Given the description of an element on the screen output the (x, y) to click on. 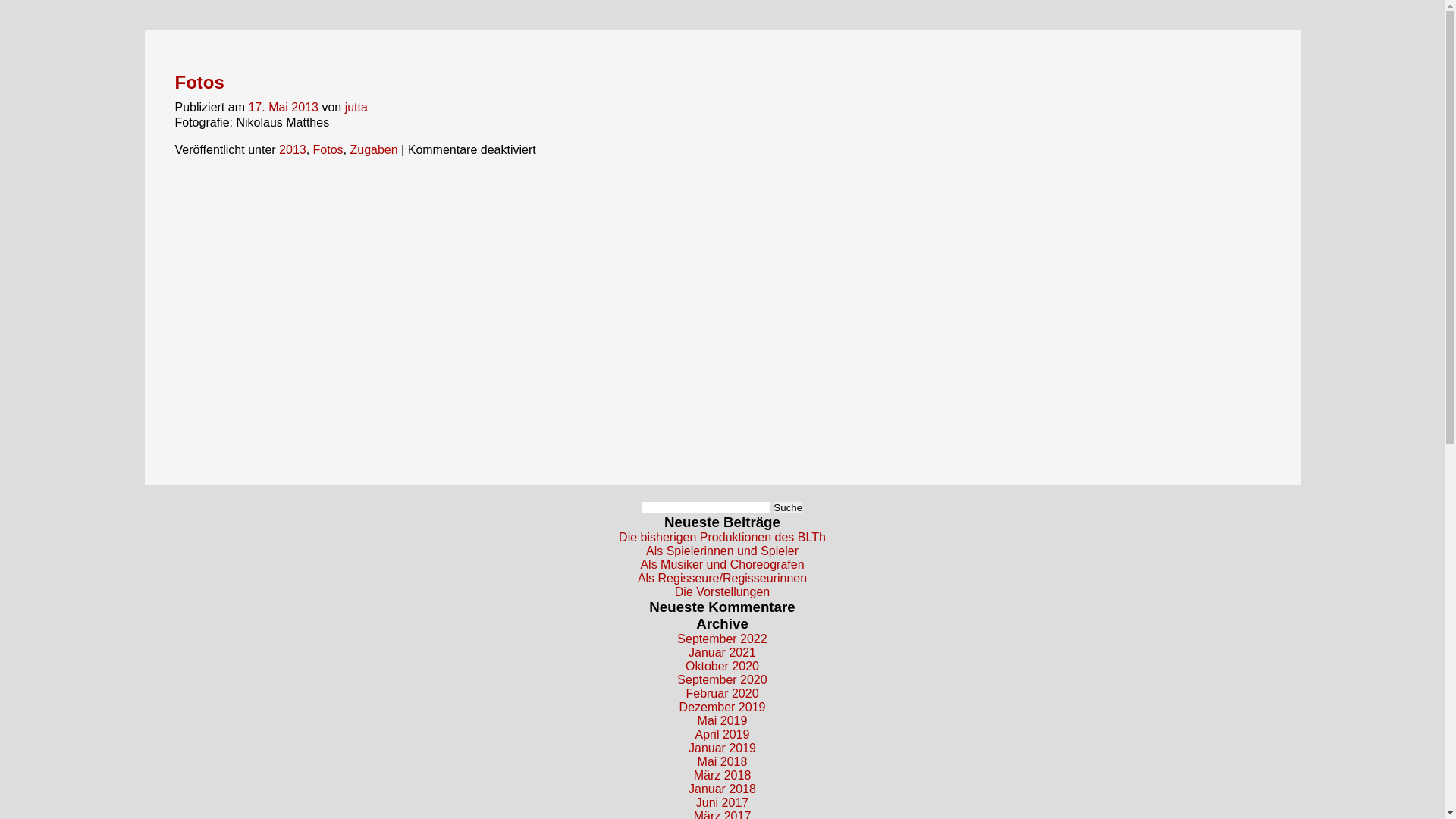
Januar 2019 Element type: text (722, 747)
17. Mai 2013 Element type: text (282, 106)
Fotos Element type: text (328, 149)
September 2022 Element type: text (721, 638)
Januar 2018 Element type: text (722, 788)
Zugaben Element type: text (373, 149)
Oktober 2020 Element type: text (722, 665)
Die bisherigen Produktionen des BLTh Element type: text (721, 536)
Dezember 2019 Element type: text (722, 706)
April 2019 Element type: text (721, 734)
Mai 2018 Element type: text (722, 761)
Suche Element type: text (787, 507)
Mai 2019 Element type: text (722, 720)
Als Regisseure/Regisseurinnen Element type: text (721, 577)
Februar 2020 Element type: text (721, 693)
Die Vorstellungen Element type: text (721, 591)
Januar 2021 Element type: text (722, 652)
Fotos Element type: text (198, 82)
Als Spielerinnen und Spieler Element type: text (722, 550)
September 2020 Element type: text (721, 679)
2013 Element type: text (292, 149)
Juni 2017 Element type: text (722, 802)
Als Musiker und Choreografen Element type: text (721, 564)
jutta Element type: text (356, 106)
